Given the description of an element on the screen output the (x, y) to click on. 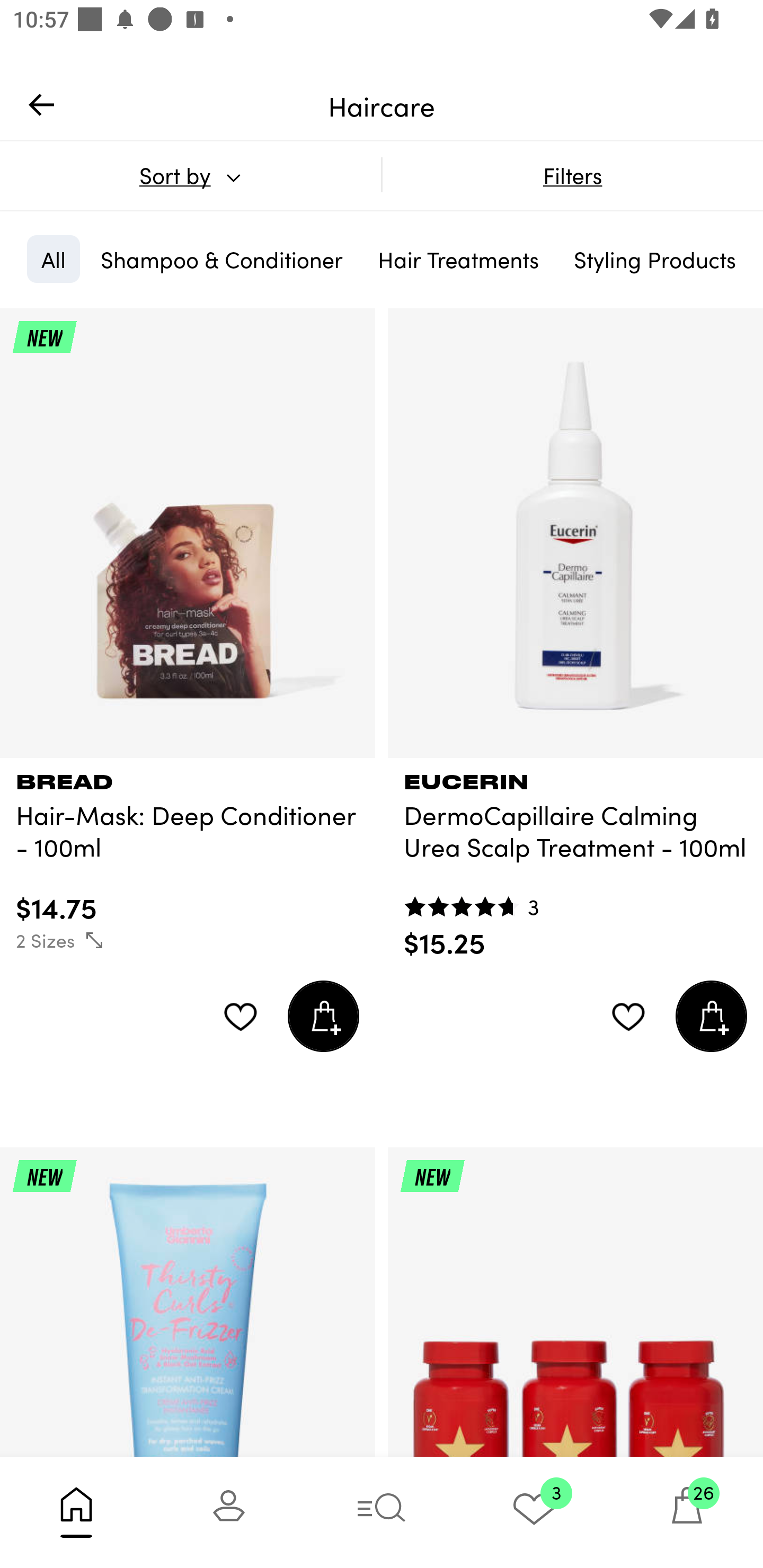
Sort by (190, 174)
Filters (572, 174)
All (53, 258)
Shampoo & Conditioner (221, 258)
Hair Treatments (458, 258)
Styling Products (654, 258)
3 (533, 1512)
26 (686, 1512)
